Given the description of an element on the screen output the (x, y) to click on. 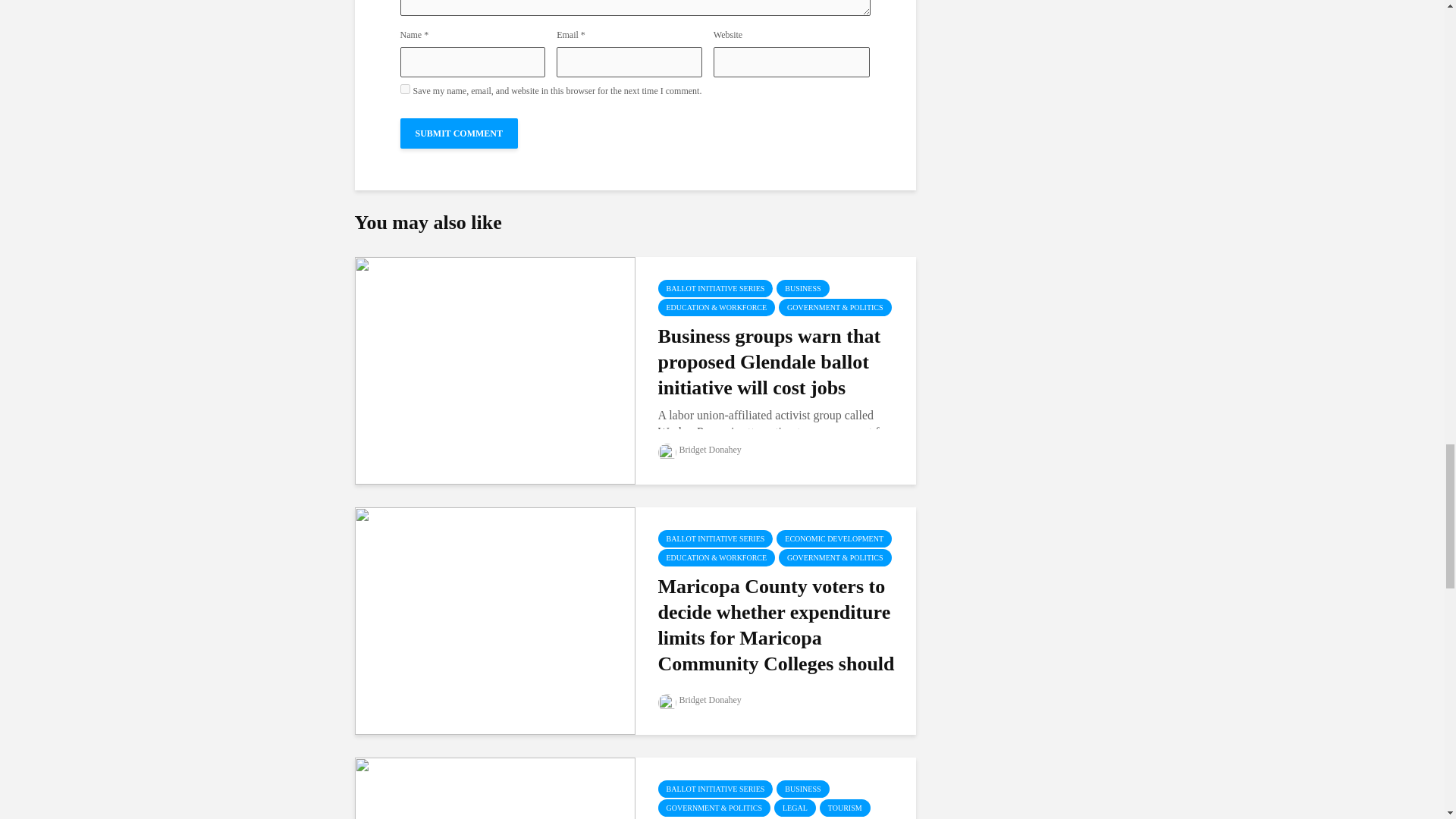
yes (405, 89)
Submit Comment (459, 132)
